Given the description of an element on the screen output the (x, y) to click on. 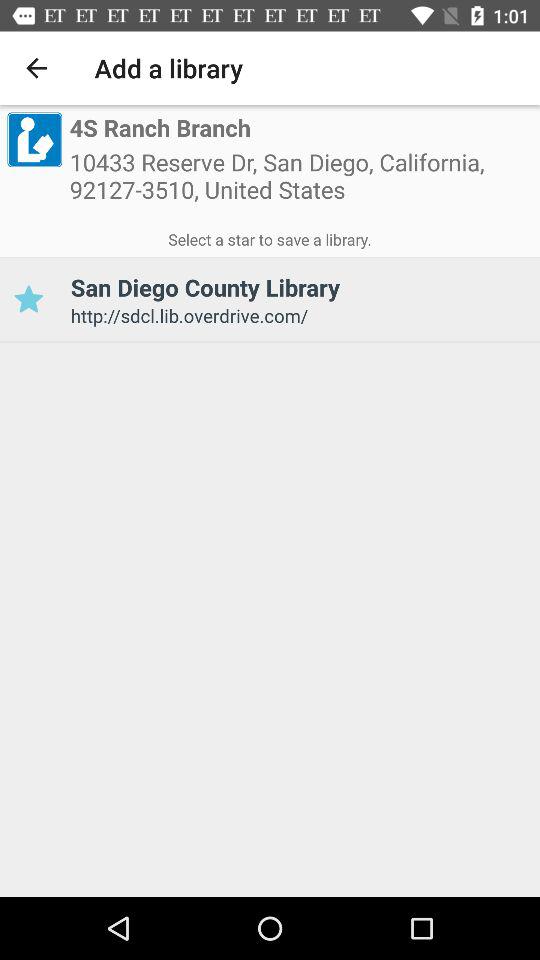
open item below 4s ranch branch (301, 182)
